Given the description of an element on the screen output the (x, y) to click on. 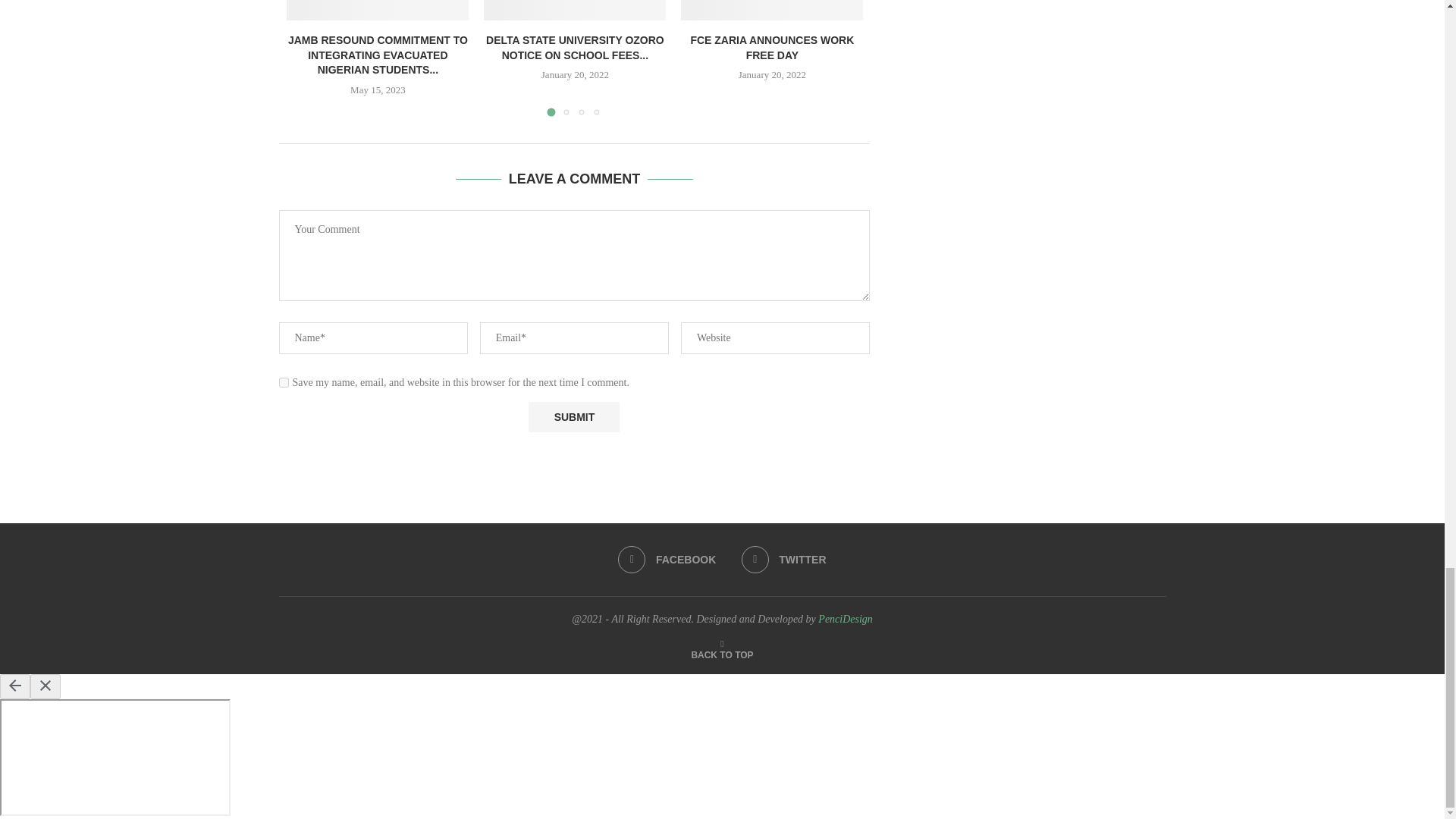
yes (283, 382)
FCE Zaria announces work free day (772, 10)
Delta State University Ozoro notice on school fees payment (574, 10)
Submit (574, 417)
